Given the description of an element on the screen output the (x, y) to click on. 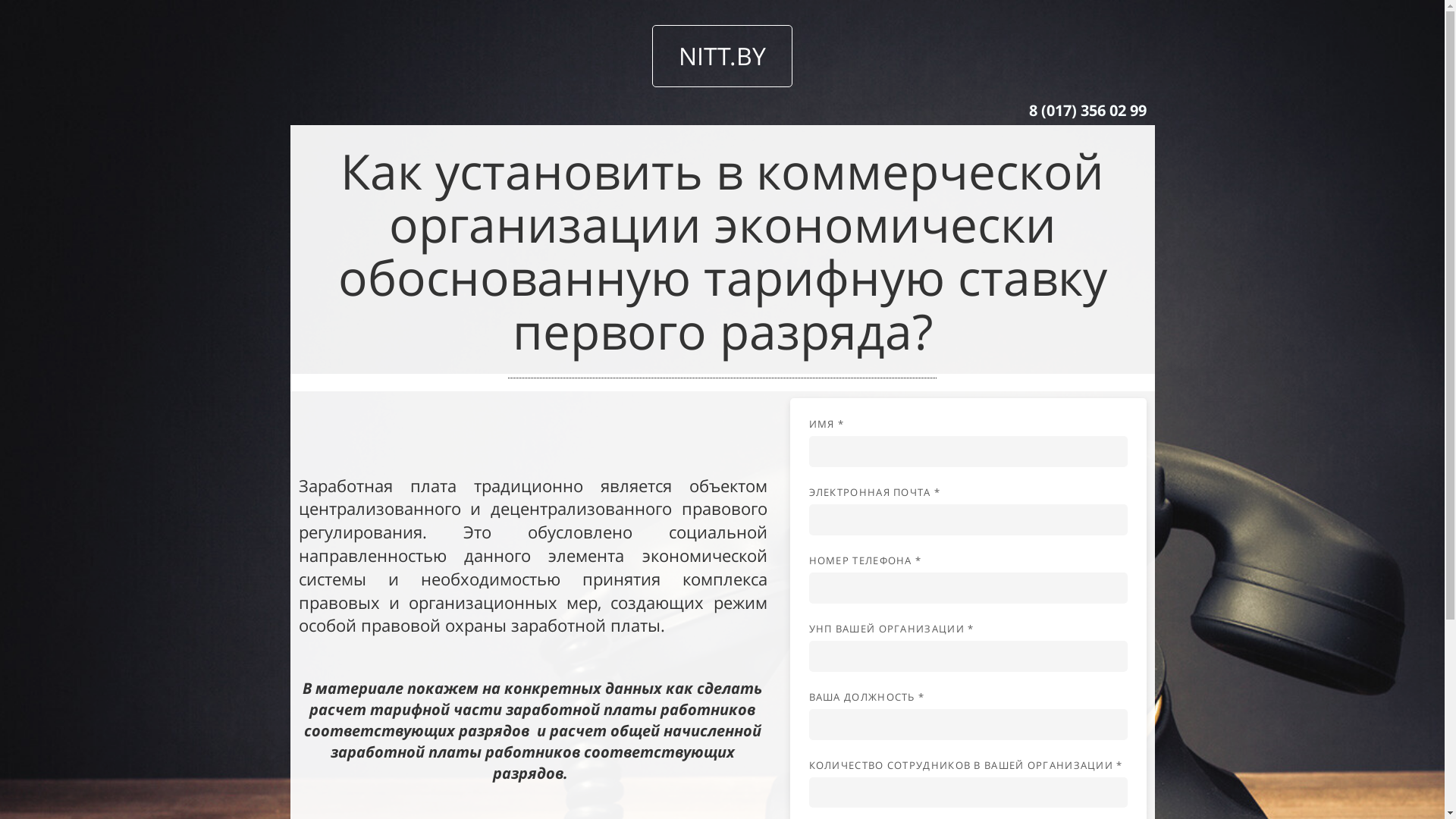
NITT.BY Element type: text (722, 56)
